Given the description of an element on the screen output the (x, y) to click on. 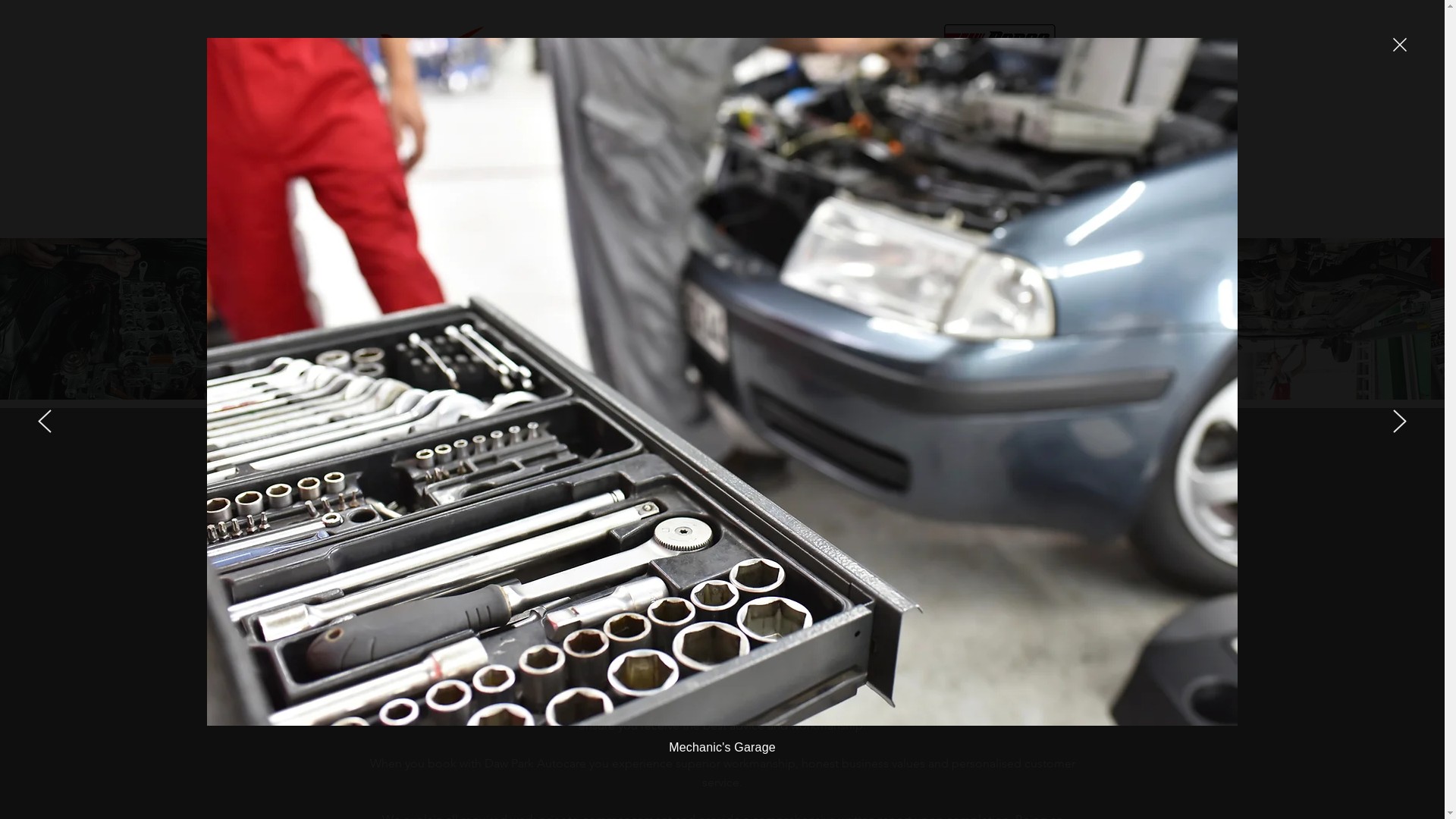
contact@dawparkautocare.com.au Element type: text (855, 216)
Book Online Element type: text (602, 217)
RAS Badge Final.jpg Element type: hover (998, 61)
About Element type: text (425, 217)
Afterpay Element type: text (535, 217)
Services Element type: text (476, 217)
Home Element type: text (381, 217)
